Given the description of an element on the screen output the (x, y) to click on. 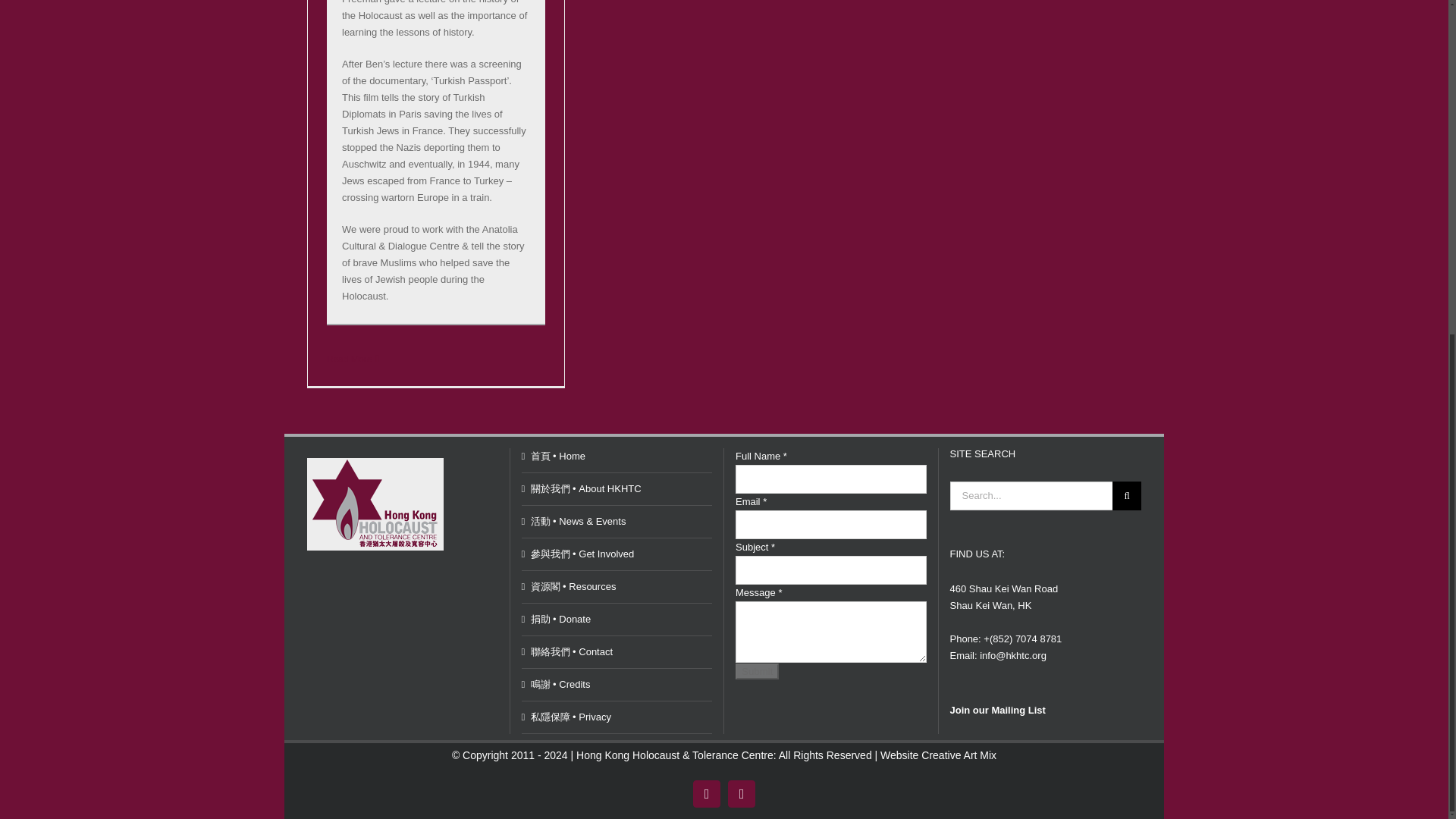
Submit (756, 671)
Read More (348, 358)
X (741, 793)
Facebook (706, 793)
